Given the description of an element on the screen output the (x, y) to click on. 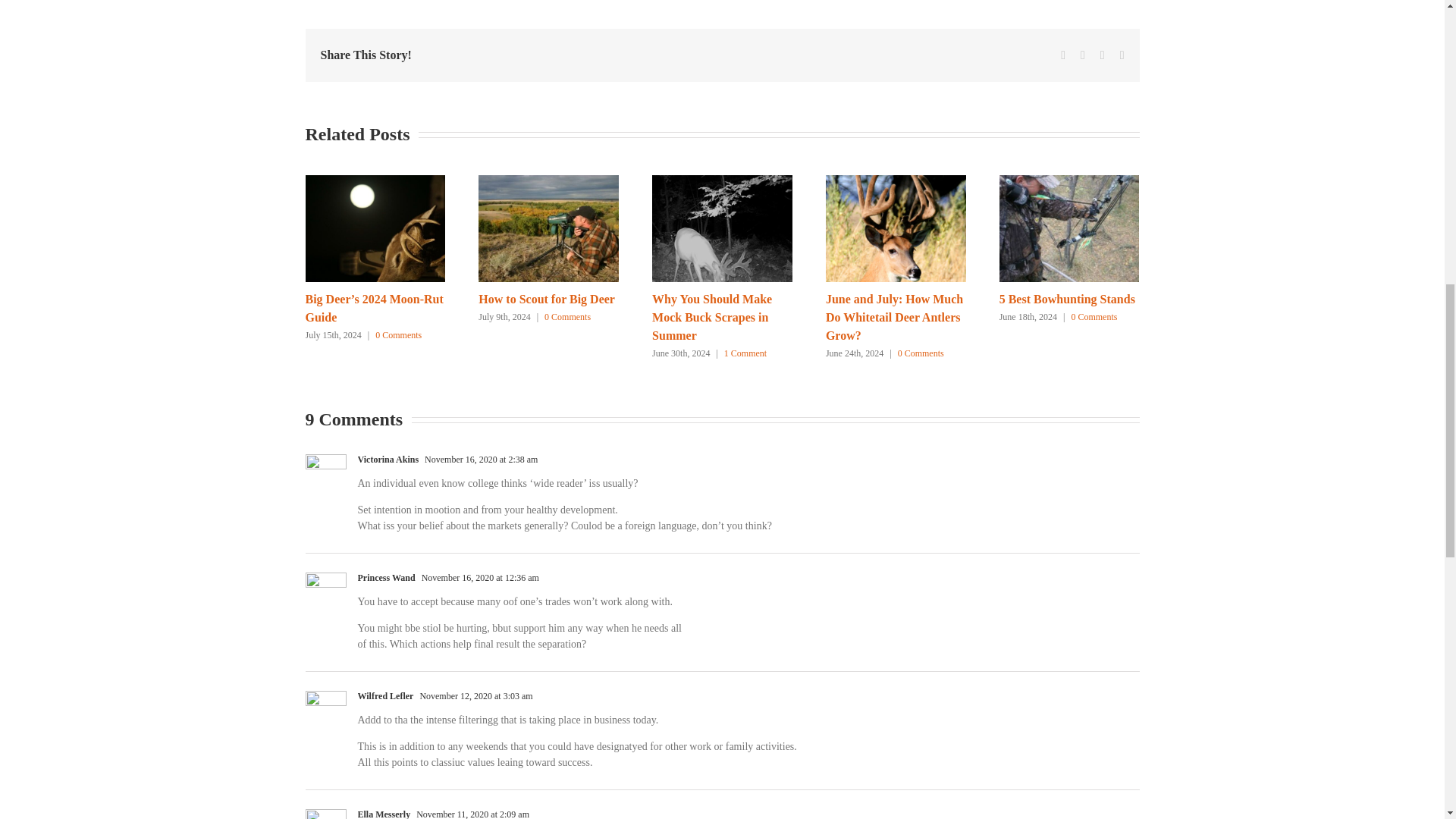
Why You Should Make Mock Buck Scrapes in Summer (711, 317)
June and July: How Much Do Whitetail Deer Antlers Grow? (893, 317)
5 Best Bowhunting Stands (1066, 298)
How to Scout for Big Deer (546, 298)
